Given the description of an element on the screen output the (x, y) to click on. 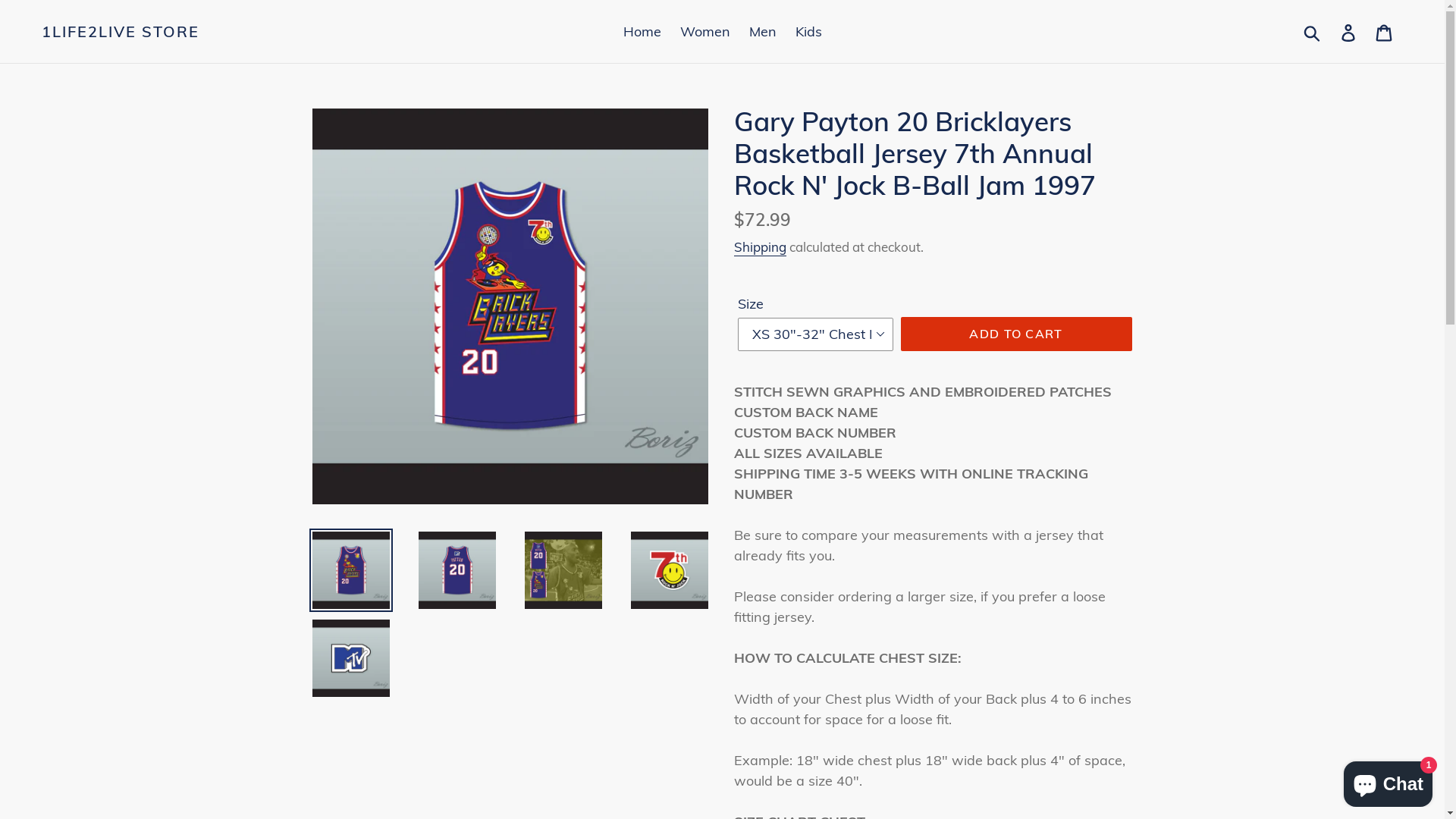
Home Element type: text (641, 30)
Women Element type: text (704, 30)
Cart Element type: text (1384, 31)
Shopify online store chat Element type: hover (1388, 780)
Shipping Element type: text (760, 247)
Submit Element type: text (1312, 31)
1LIFE2LIVE STORE Element type: text (120, 31)
ADD TO CART Element type: text (1016, 333)
Men Element type: text (762, 30)
Log in Element type: text (1349, 31)
Kids Element type: text (807, 30)
